Given the description of an element on the screen output the (x, y) to click on. 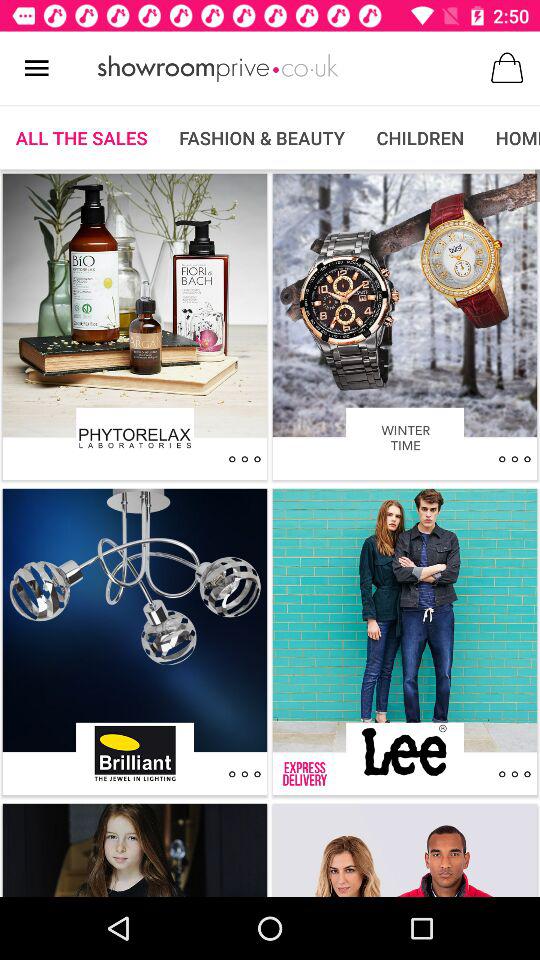
go to winter time action dots (514, 459)
